Given the description of an element on the screen output the (x, y) to click on. 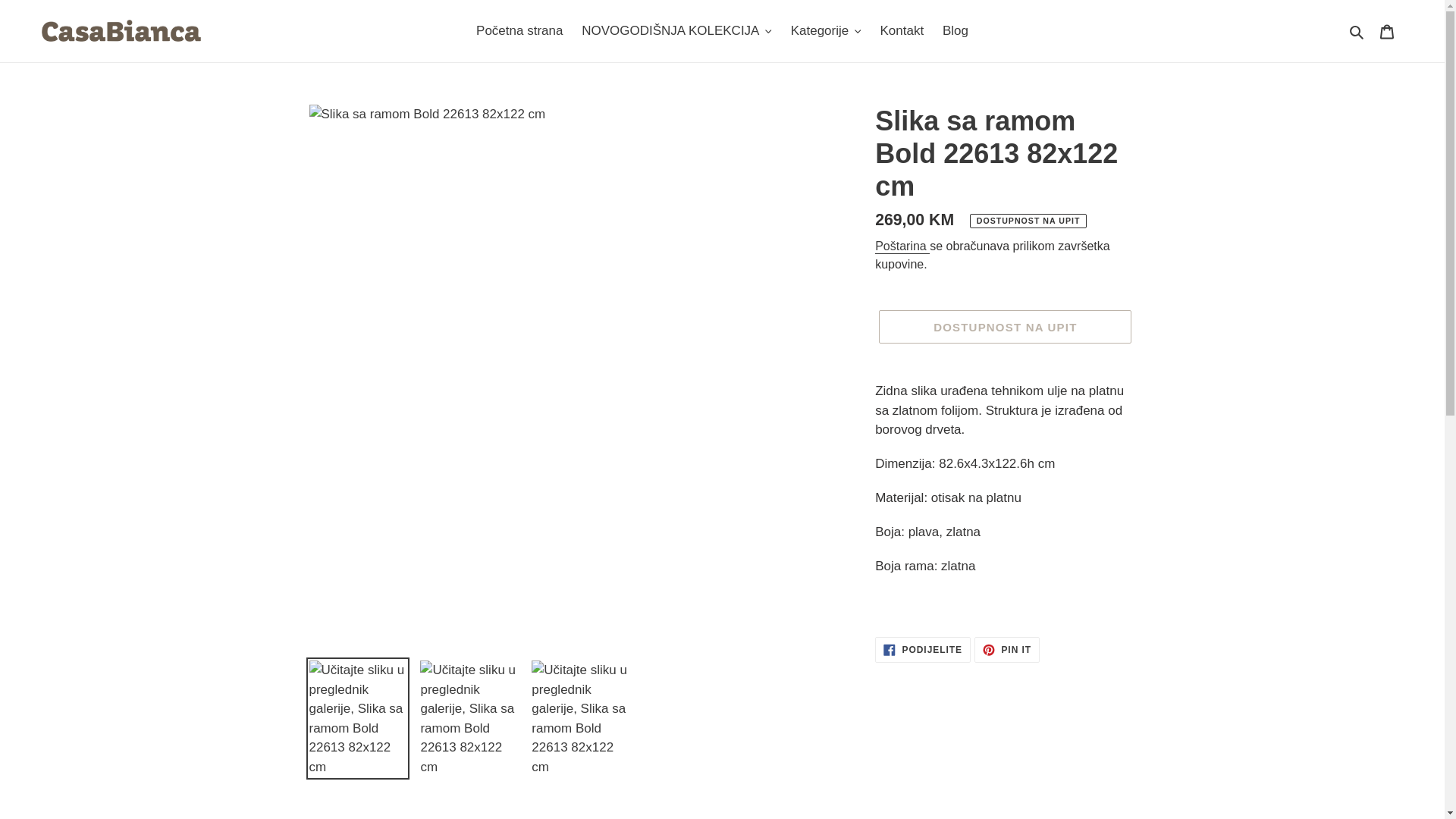
Kategorije Element type: text (826, 30)
PIN IT
PIN IT NA PINTEREST Element type: text (1006, 649)
PODIJELITE
PODIJELITE NA FACEBOOKU Element type: text (922, 649)
DOSTUPNOST NA UPIT Element type: text (1004, 326)
Kontakt Element type: text (901, 30)
Blog Element type: text (955, 30)
Korpa Element type: text (1386, 30)
